Given the description of an element on the screen output the (x, y) to click on. 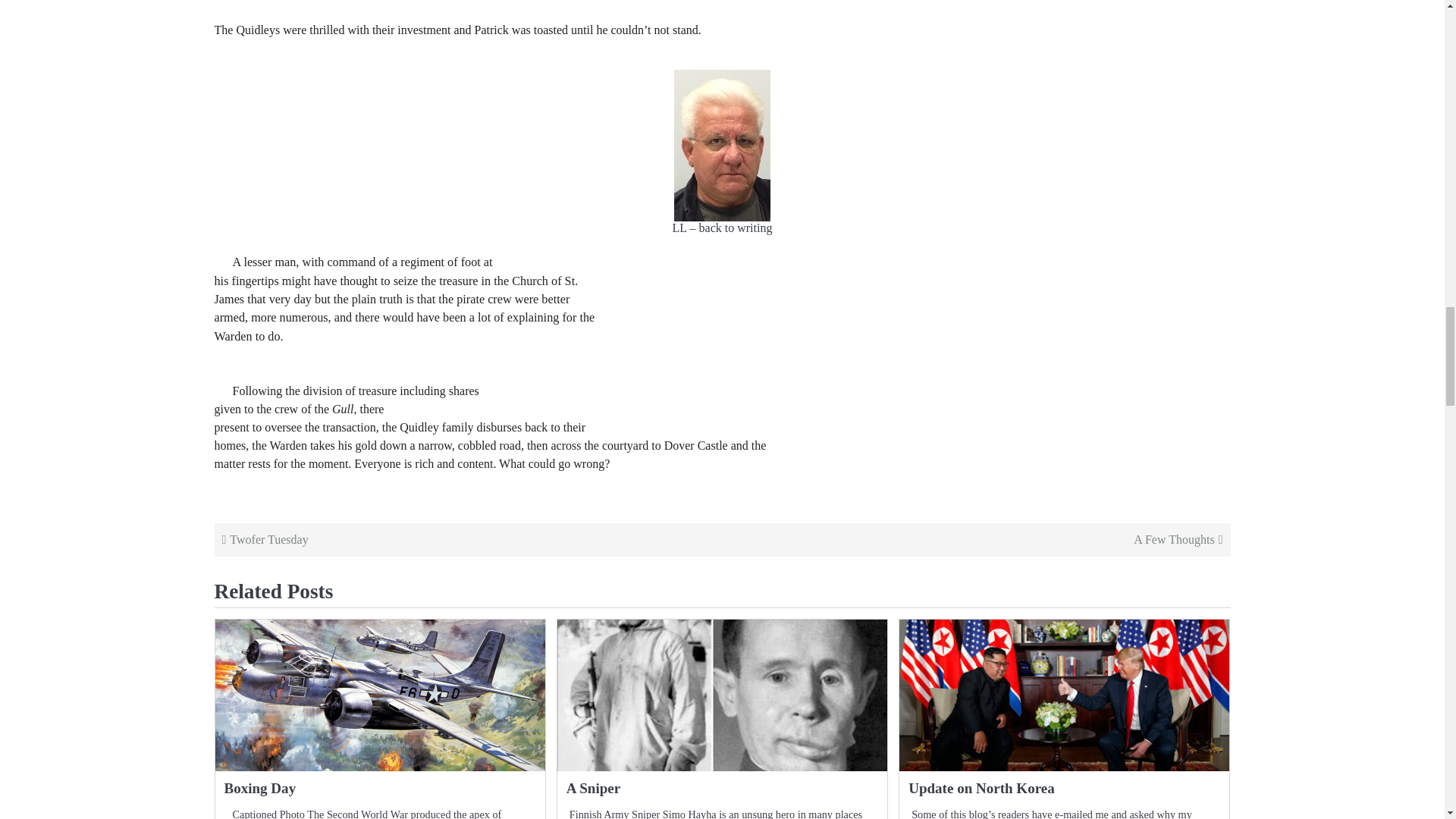
Twofer Tuesday (469, 539)
A Few Thoughts (974, 539)
Update on North Korea (981, 788)
A Sniper (593, 788)
Boxing Day (260, 788)
